Given the description of an element on the screen output the (x, y) to click on. 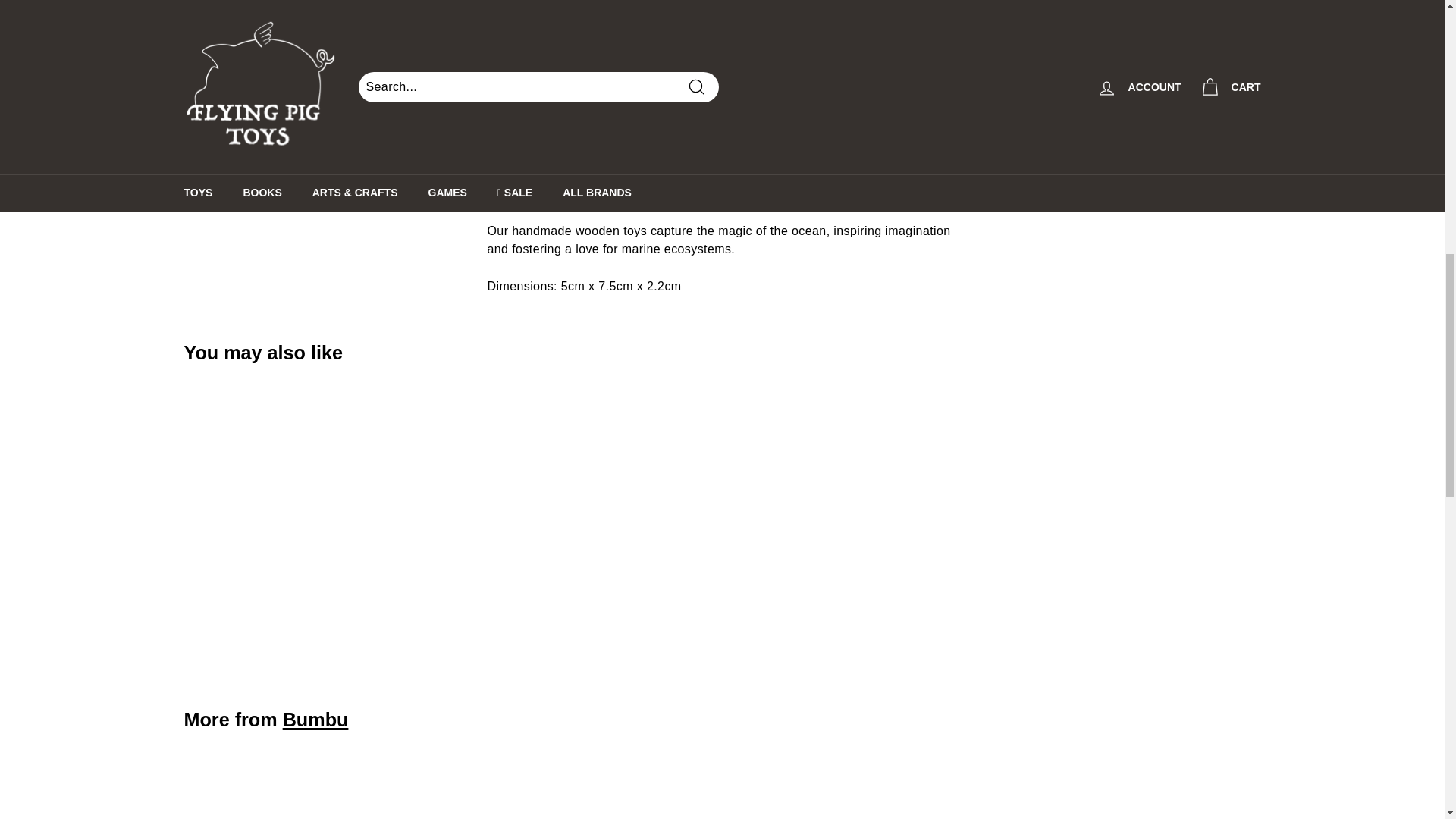
Bumbu (315, 719)
